Given the description of an element on the screen output the (x, y) to click on. 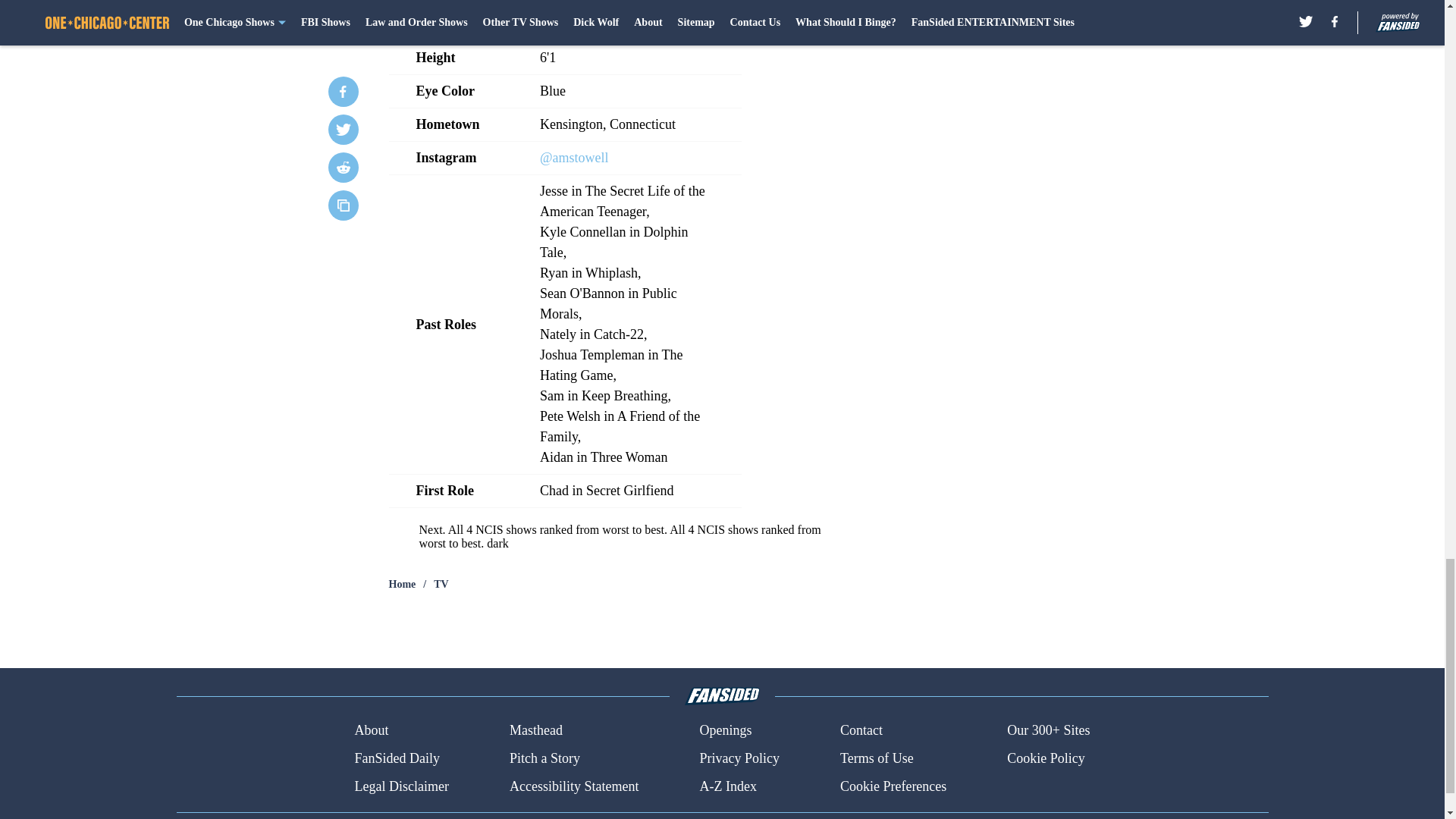
Openings (724, 730)
Privacy Policy (738, 758)
About (370, 730)
Home (401, 584)
Terms of Use (877, 758)
Pitch a Story (544, 758)
Masthead (535, 730)
Contact (861, 730)
FanSided Daily (396, 758)
TV (440, 584)
